Given the description of an element on the screen output the (x, y) to click on. 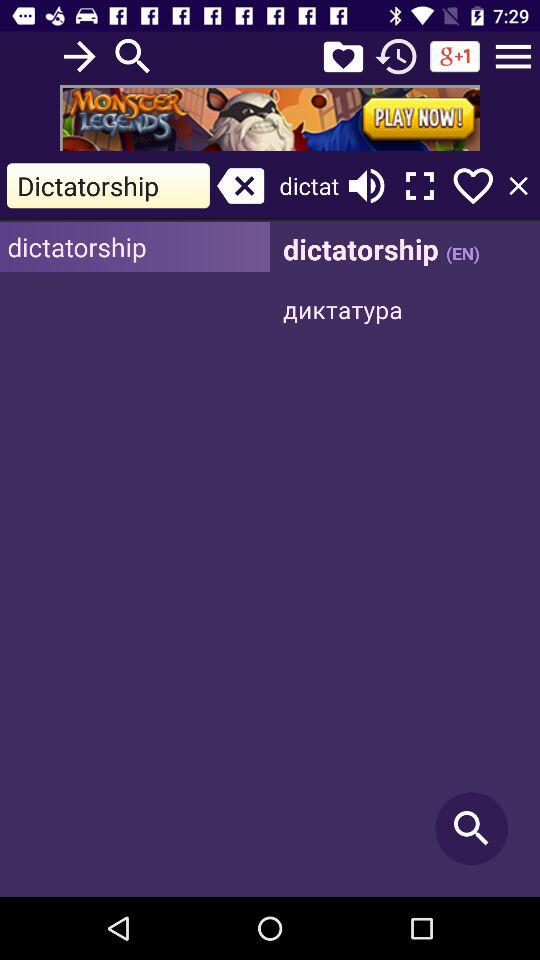
go to search option (133, 56)
